Given the description of an element on the screen output the (x, y) to click on. 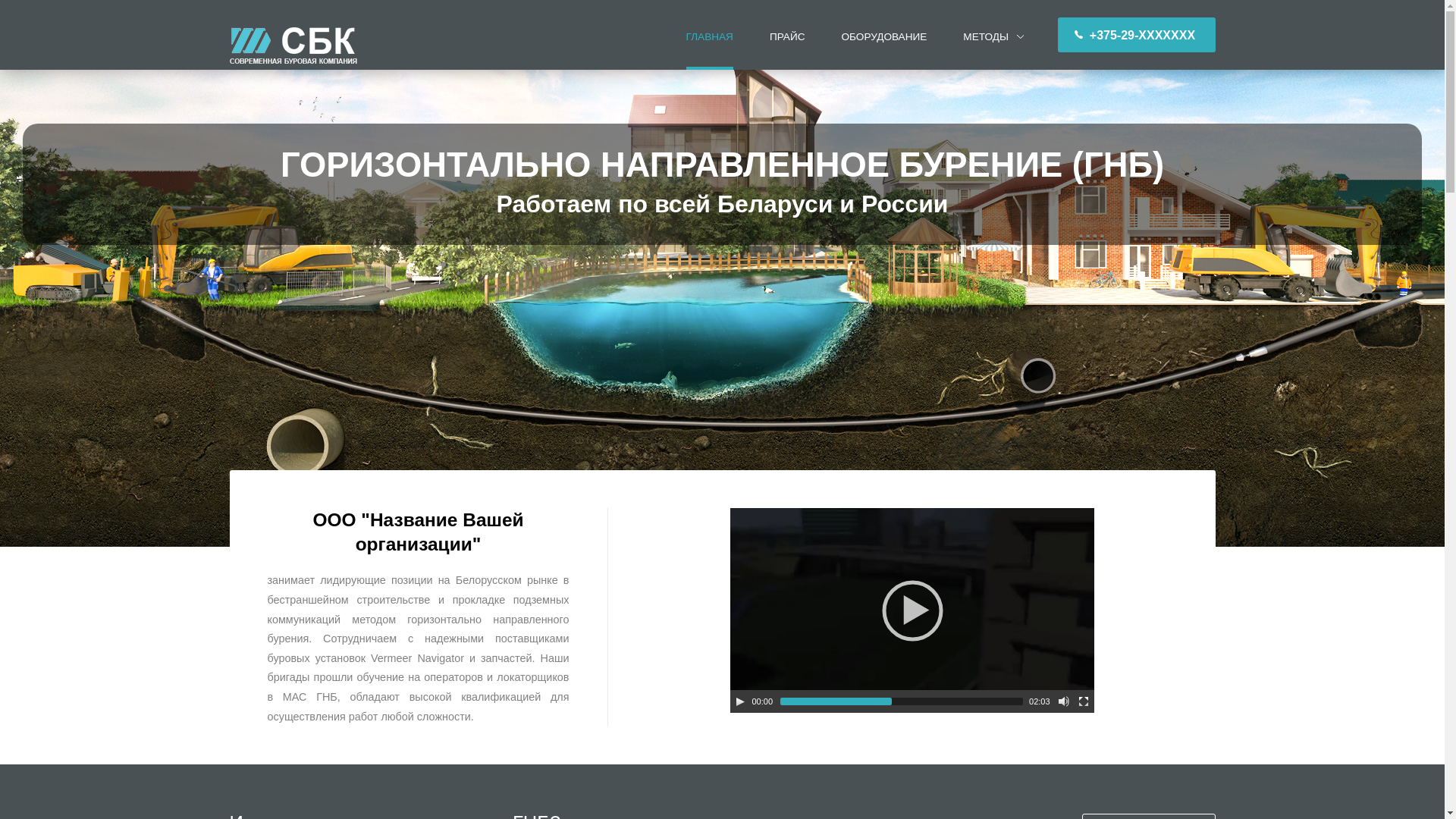
Mute Toggle Element type: hover (1063, 701)
  +375-29-XXXXXXX  Element type: text (1136, 34)
Play/Pause Element type: hover (740, 701)
Fullscreen Element type: hover (1083, 701)
